Given the description of an element on the screen output the (x, y) to click on. 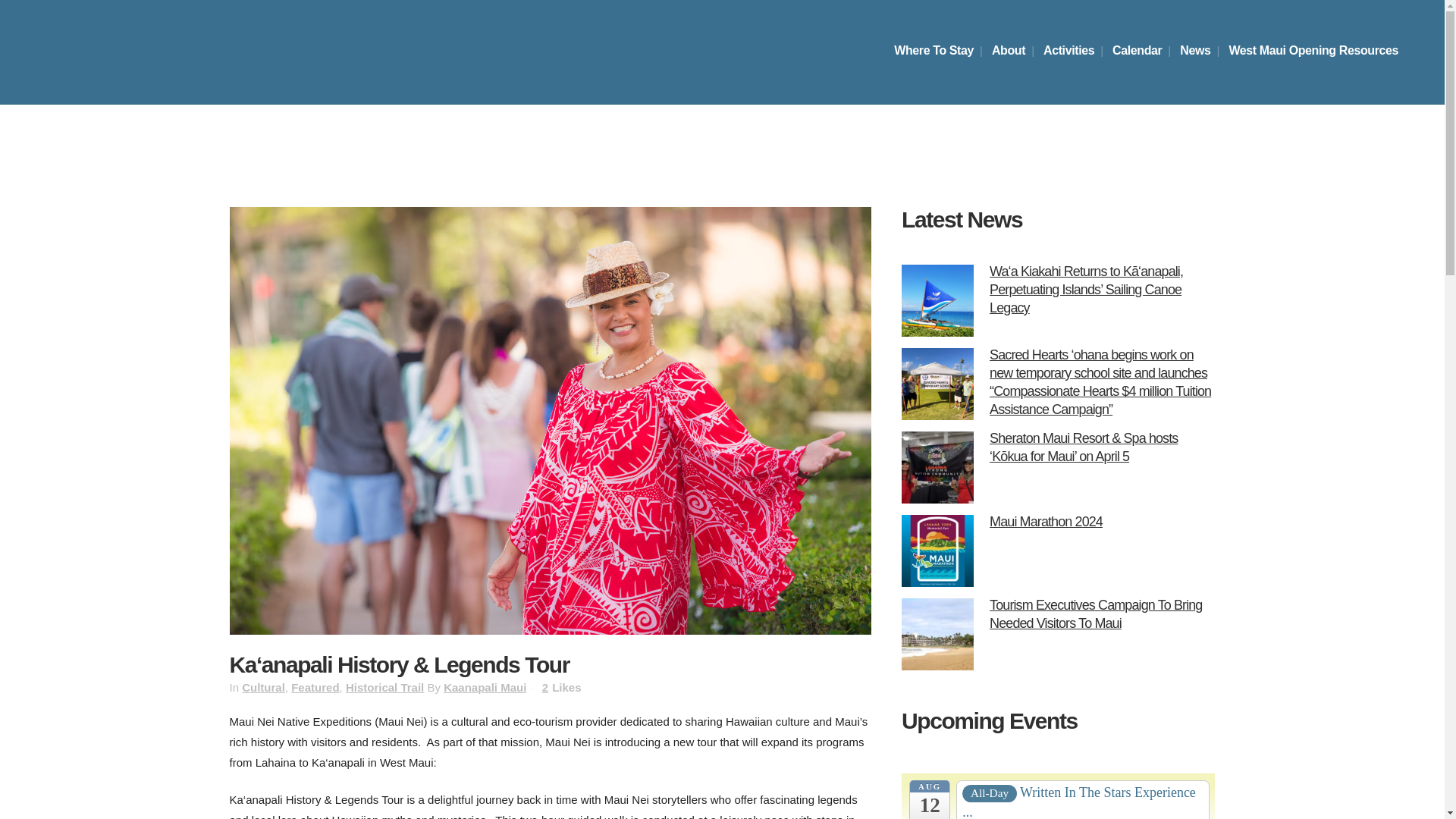
Featured (315, 686)
Kaanapali Maui (484, 686)
Like this (560, 687)
Where To Stay (933, 50)
Historical Trail (384, 686)
Cultural (263, 686)
West Maui Opening Resources (1313, 50)
2 Likes (560, 687)
